Given the description of an element on the screen output the (x, y) to click on. 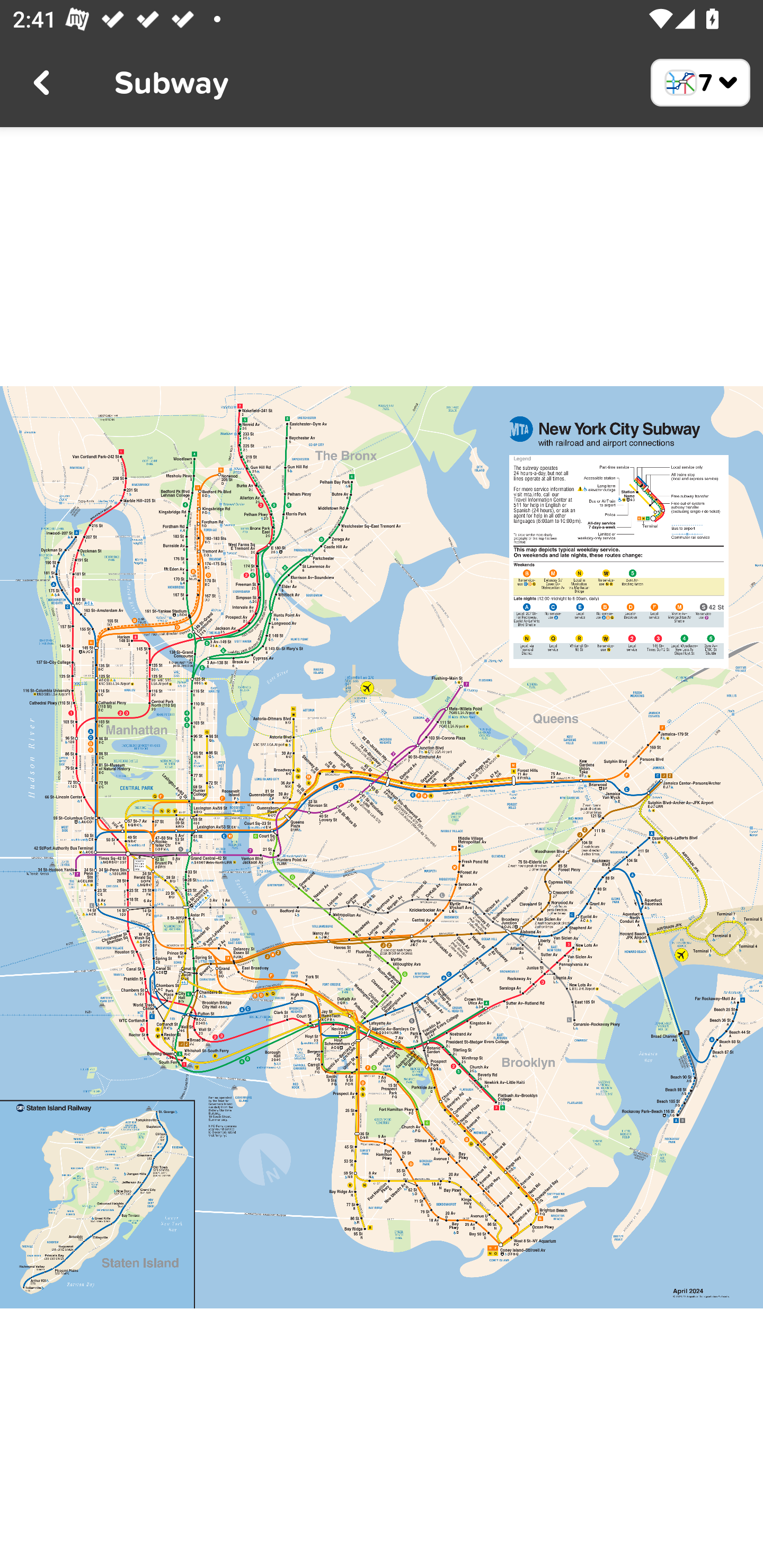
7 (700, 82)
